Given the description of an element on the screen output the (x, y) to click on. 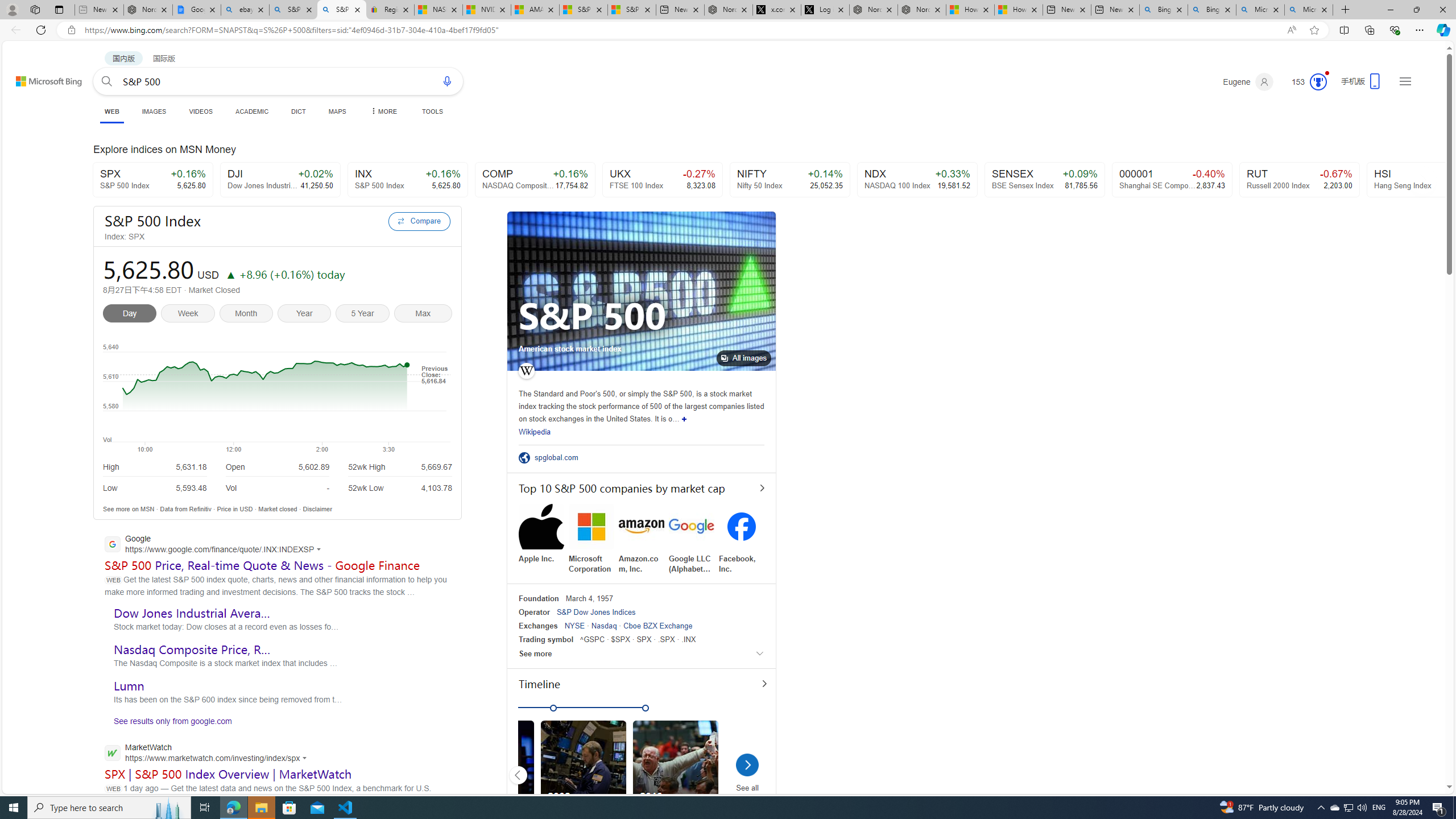
WEB (111, 112)
VIDEOS (201, 111)
Class: medal-circled (1317, 81)
ACADEMIC (252, 111)
Skip to content (35, 76)
SENSEX+0.09%BSE Sensex Index81,785.56 (1045, 179)
Top 10 S&P 500 companies by market cap (641, 488)
MAPS (336, 111)
Official Site (526, 457)
